Given the description of an element on the screen output the (x, y) to click on. 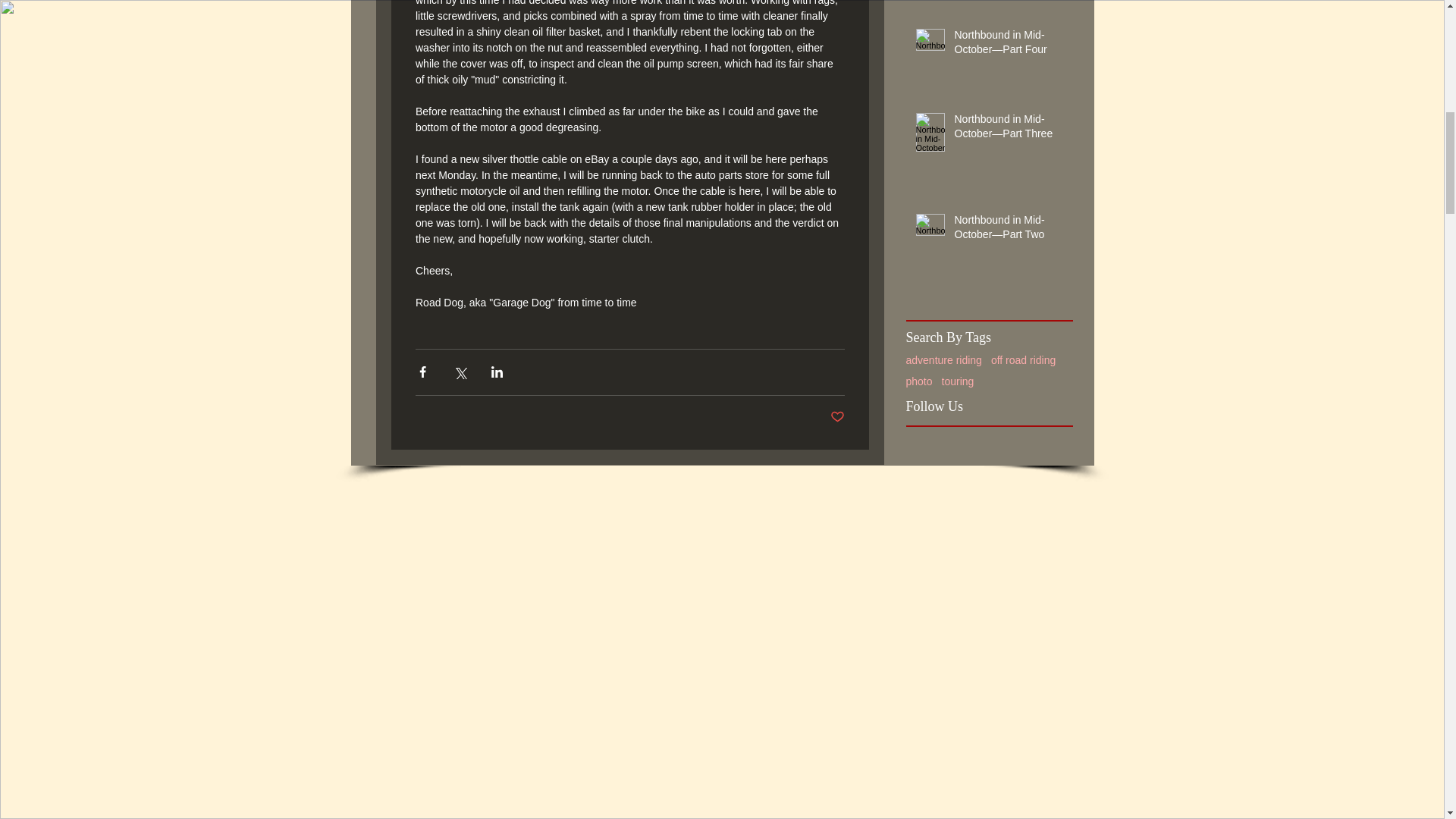
Post not marked as liked (836, 417)
adventure riding (943, 359)
photo (918, 381)
touring (958, 381)
off road riding (1023, 359)
